Given the description of an element on the screen output the (x, y) to click on. 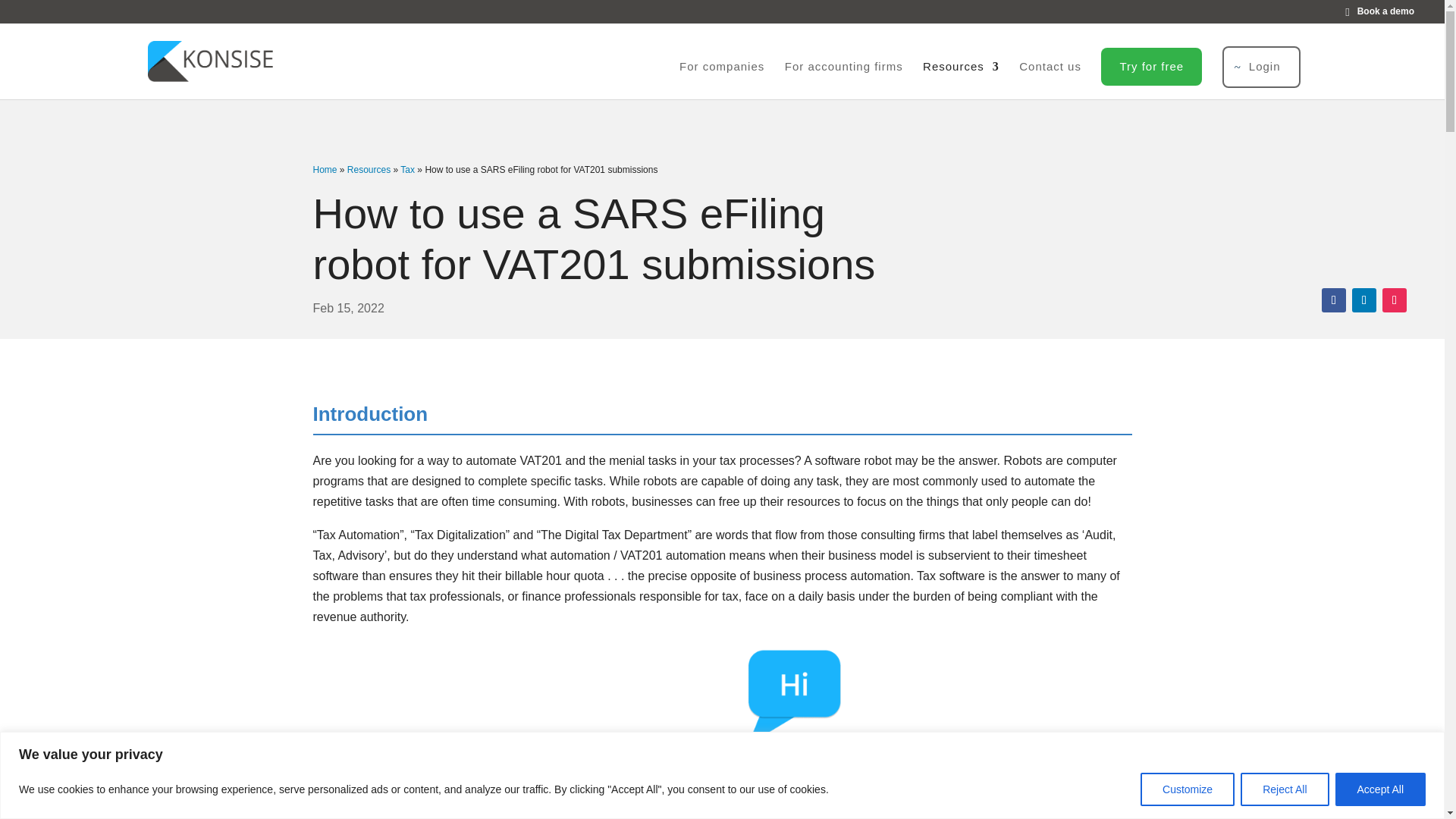
Resources (960, 78)
Tax (407, 169)
Book a demo (1382, 14)
For accounting firms (843, 78)
Reject All (1283, 788)
Login (1261, 66)
Resources (368, 169)
Follow on Instagram (1393, 300)
Try for free (1151, 66)
Contact us (1050, 78)
